Given the description of an element on the screen output the (x, y) to click on. 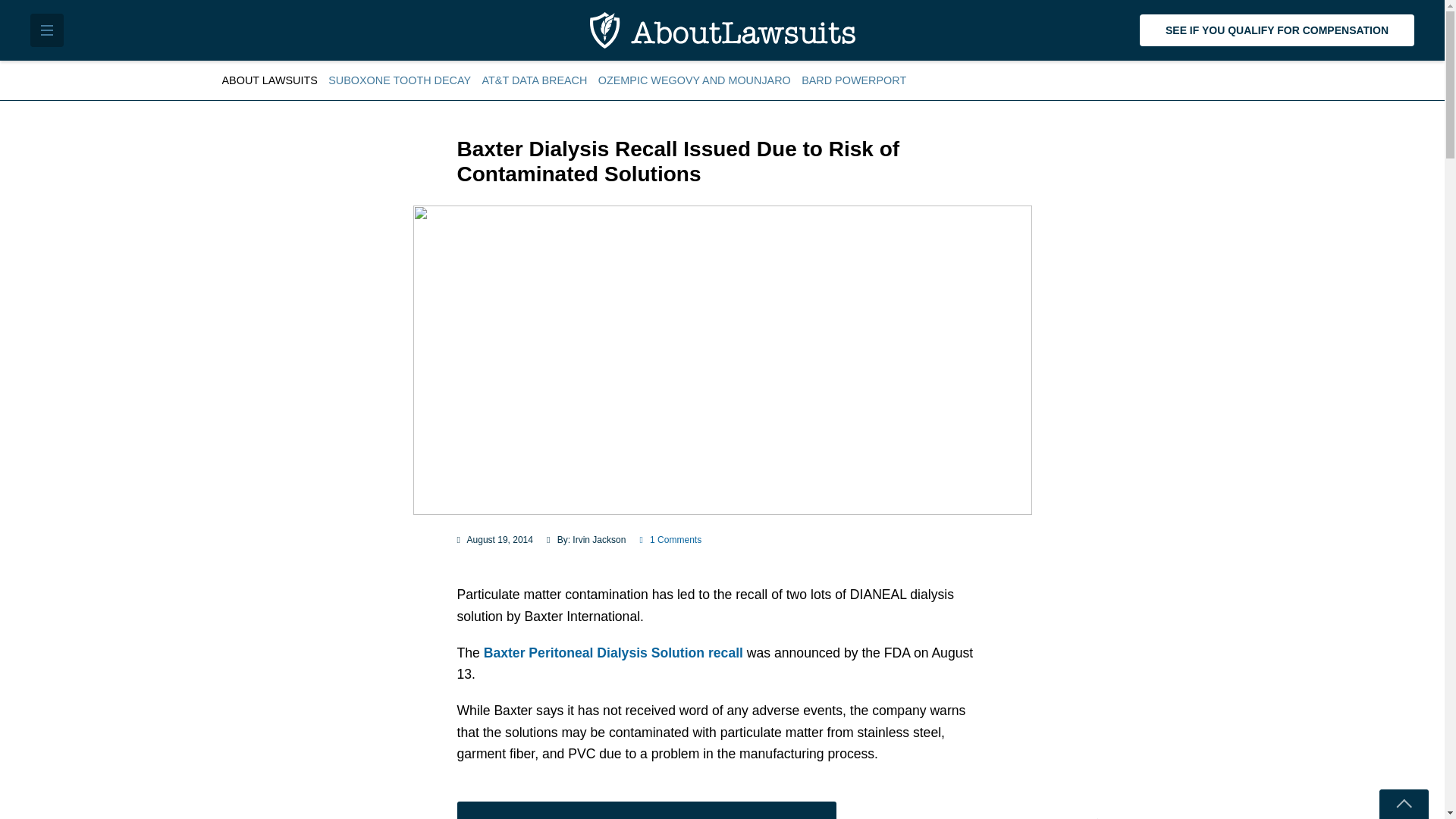
SEE IF YOU QUALIFY FOR COMPENSATION (1276, 30)
OZEMPIC WEGOVY AND MOUNJARO (694, 80)
1 Comments (670, 539)
ABOUT LAWSUITS (272, 80)
Baxter Peritoneal Dialysis Solution recall (612, 652)
BARD POWERPORT (853, 80)
Toggle newsletter signup form. (1403, 804)
SUBOXONE TOOTH DECAY (399, 80)
Toggle Menu (47, 29)
